Given the description of an element on the screen output the (x, y) to click on. 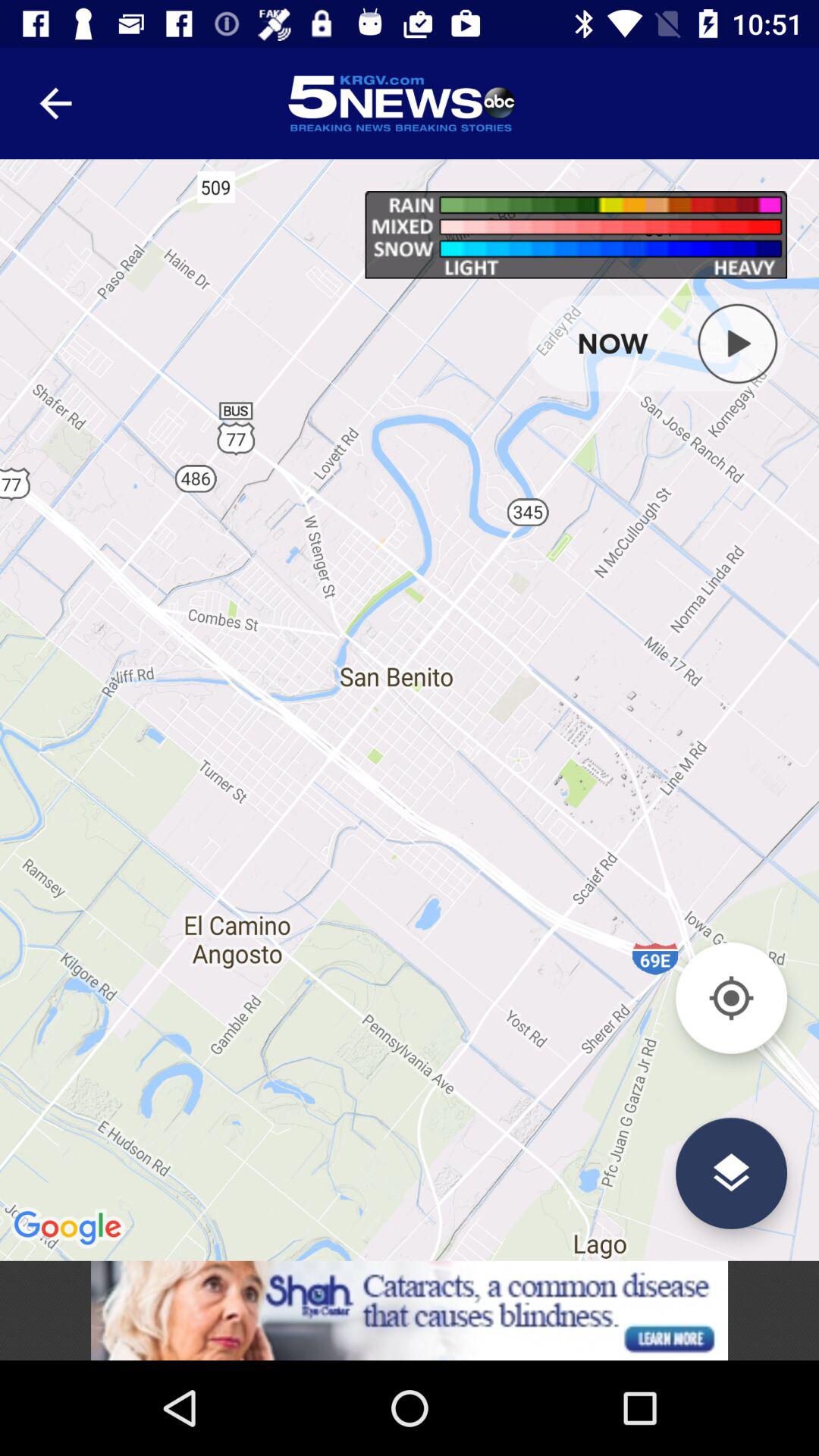
connect to advertisement (409, 1310)
